Given the description of an element on the screen output the (x, y) to click on. 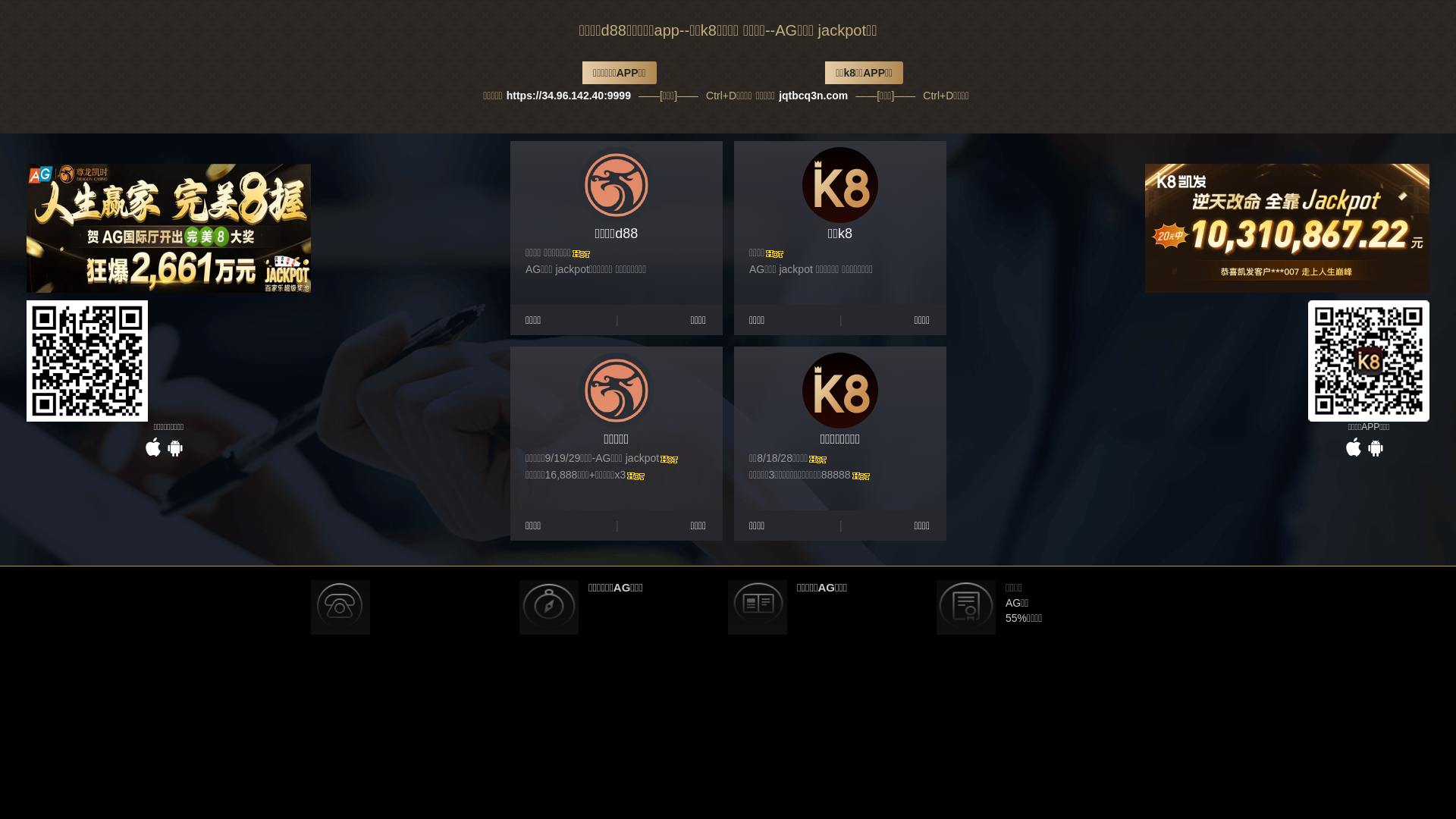
2 Element type: text (761, 384)
2023.09.18 Element type: text (840, 581)
1 Element type: text (742, 384)
3 Element type: text (780, 384)
2023.09.18 Element type: text (840, 560)
4 Element type: text (799, 384)
2023.09.18 Element type: text (840, 602)
